Given the description of an element on the screen output the (x, y) to click on. 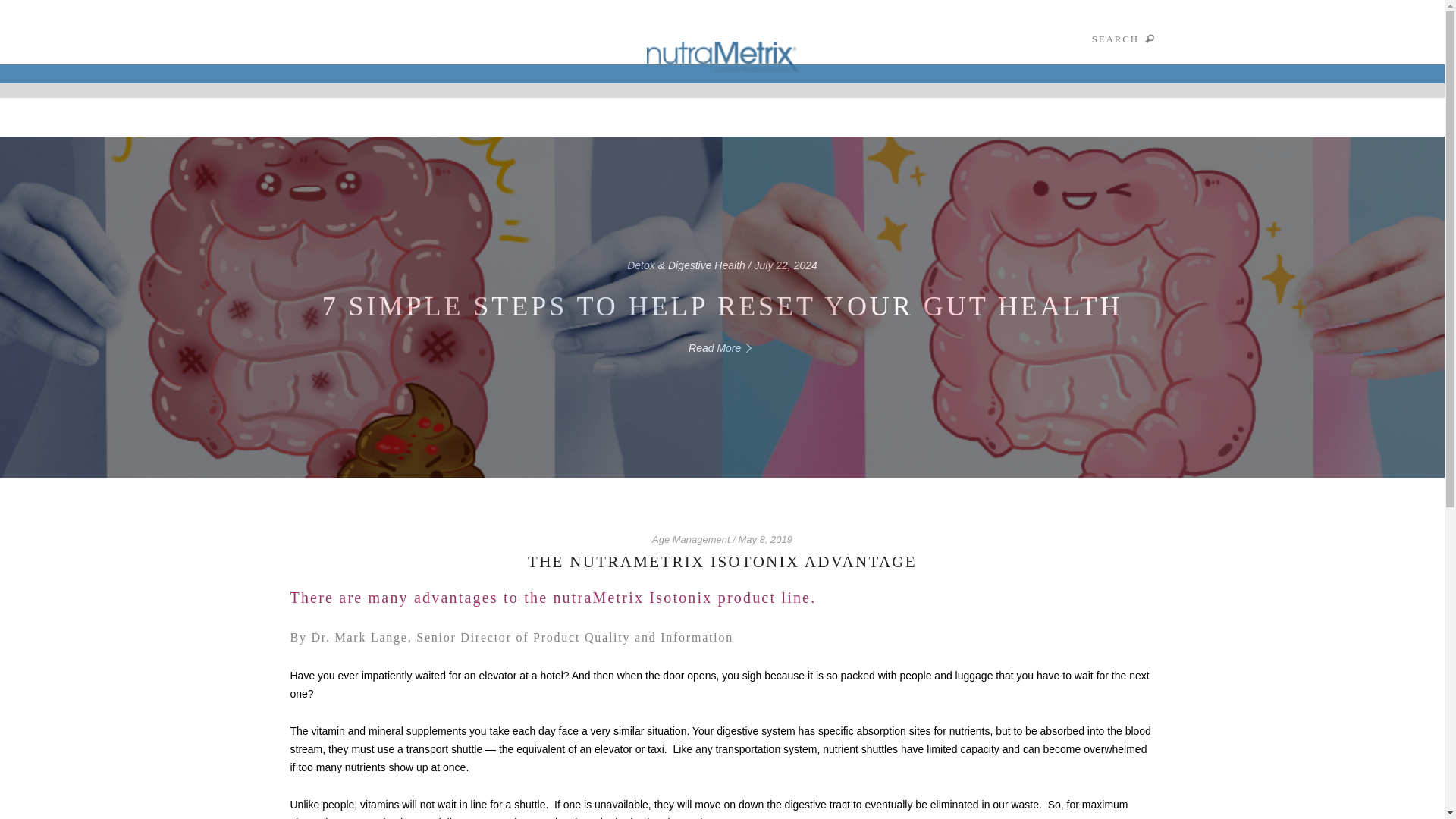
July 22, 2024 (785, 265)
Read More (721, 347)
7 SIMPLE STEPS TO HELP RESET YOUR GUT HEALTH (721, 306)
View all posts in Age Management (691, 539)
Search (432, 28)
Read More (721, 347)
